Given the description of an element on the screen output the (x, y) to click on. 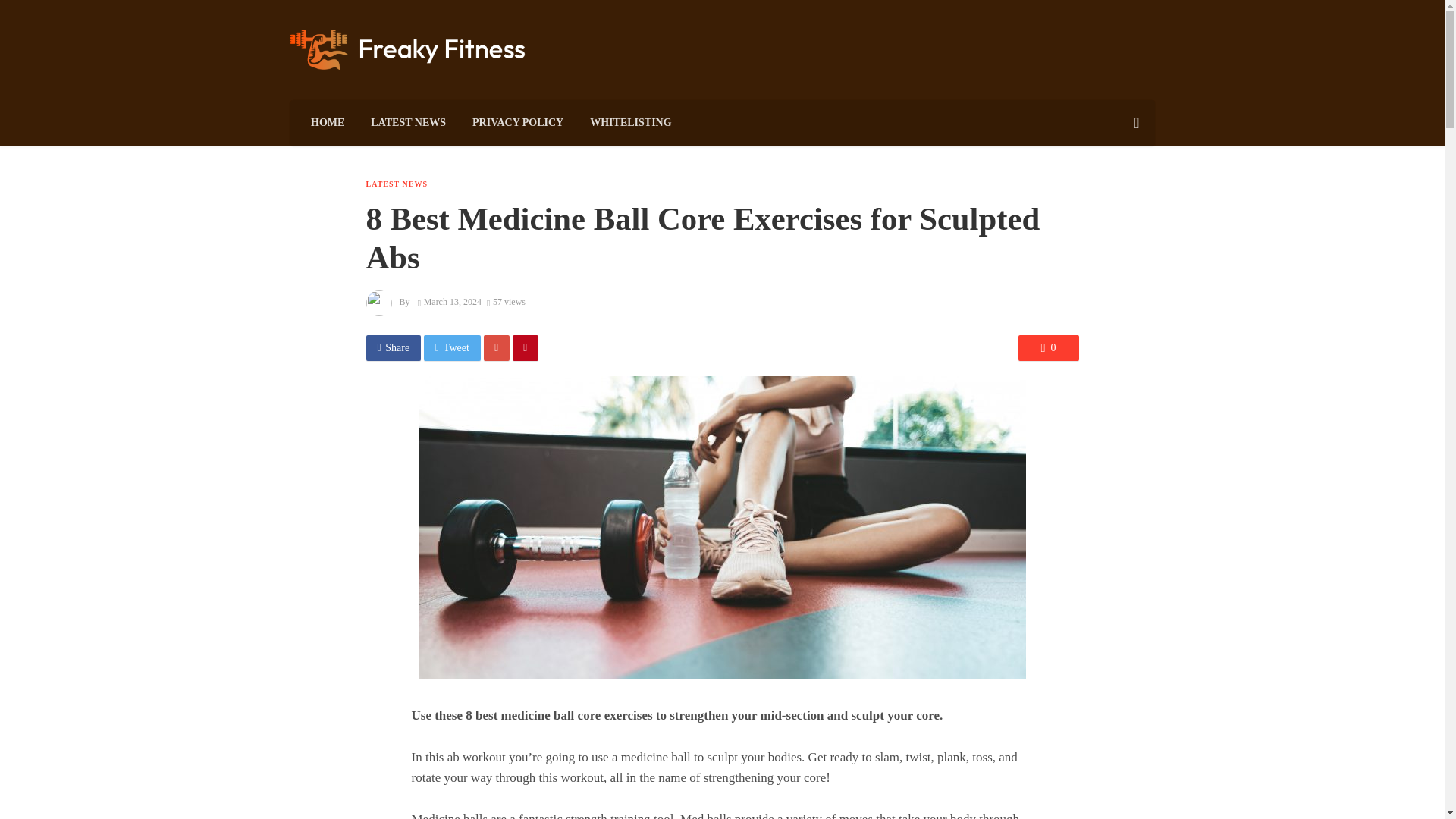
LATEST NEWS (396, 184)
0 (1047, 347)
0 Comments (1047, 347)
Share (392, 347)
March 13, 2024 at 9:53 pm (449, 301)
Share on Pinterest (525, 347)
HOME (326, 122)
WHITELISTING (630, 122)
Share on Twitter (451, 347)
Share on Facebook (392, 347)
